Given the description of an element on the screen output the (x, y) to click on. 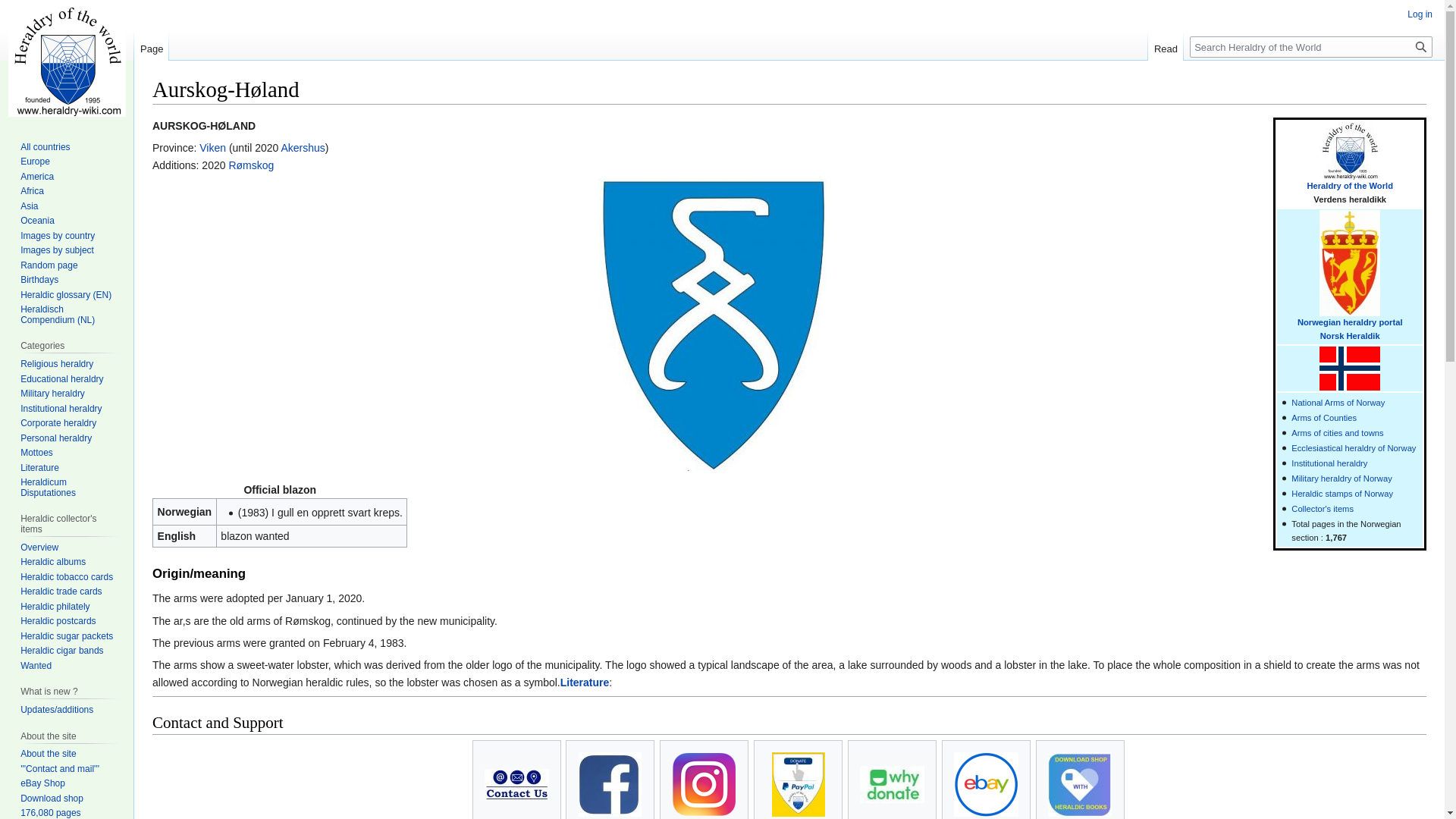
Arms of Counties (1323, 417)
Norway (1350, 335)
Category:Norwegian provinces (1323, 417)
Literature (585, 682)
Literature (585, 682)
Institutional heraldry (1329, 462)
Heraldry of the World (1349, 185)
Akershus (302, 147)
Search (1420, 46)
Arms of cities and towns (1337, 432)
